Given the description of an element on the screen output the (x, y) to click on. 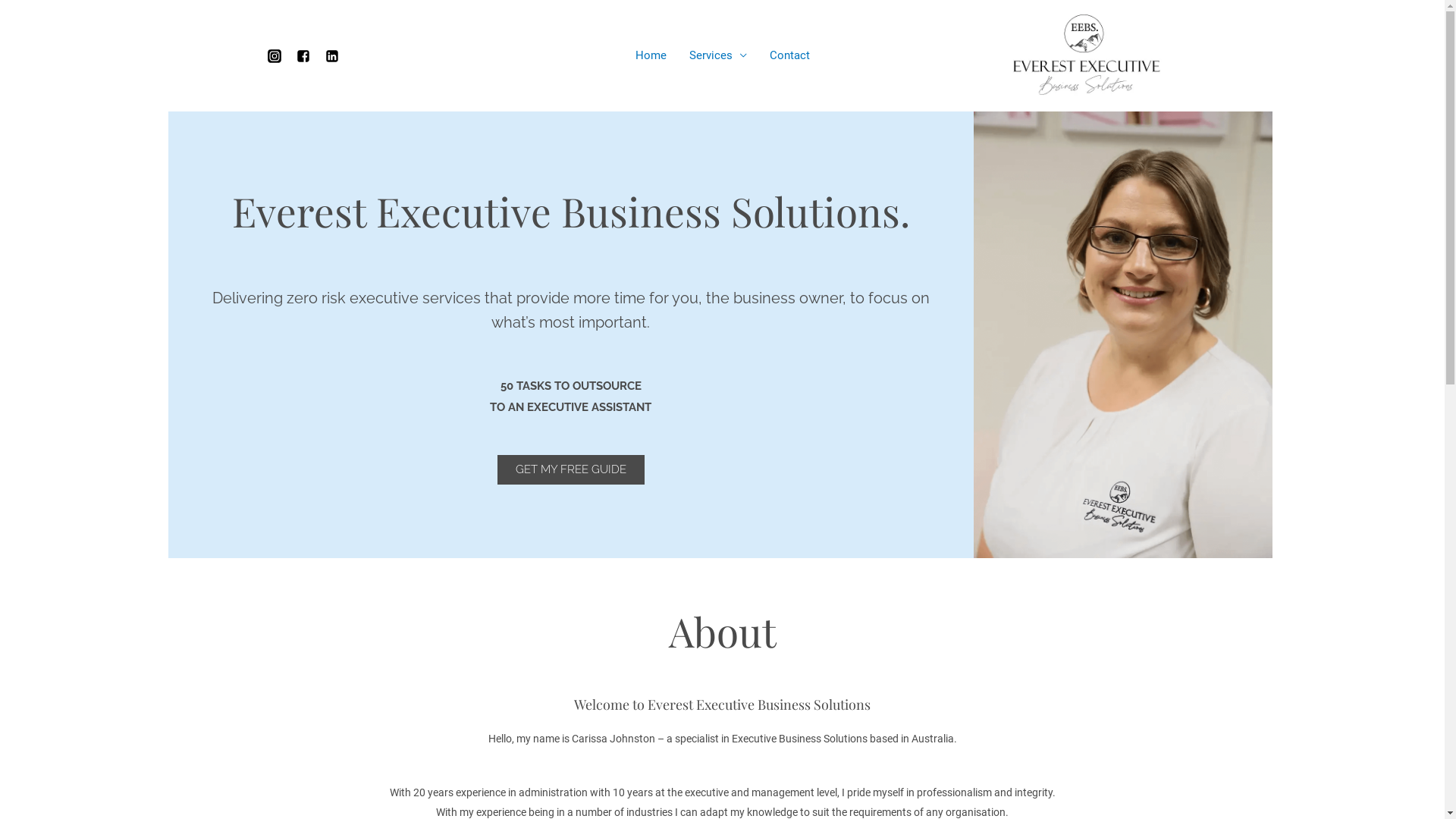
Contact Element type: text (789, 54)
Services Element type: text (717, 54)
GET MY FREE GUIDE Element type: text (570, 469)
Home Element type: text (650, 54)
carissa Element type: hover (1122, 334)
